Given the description of an element on the screen output the (x, y) to click on. 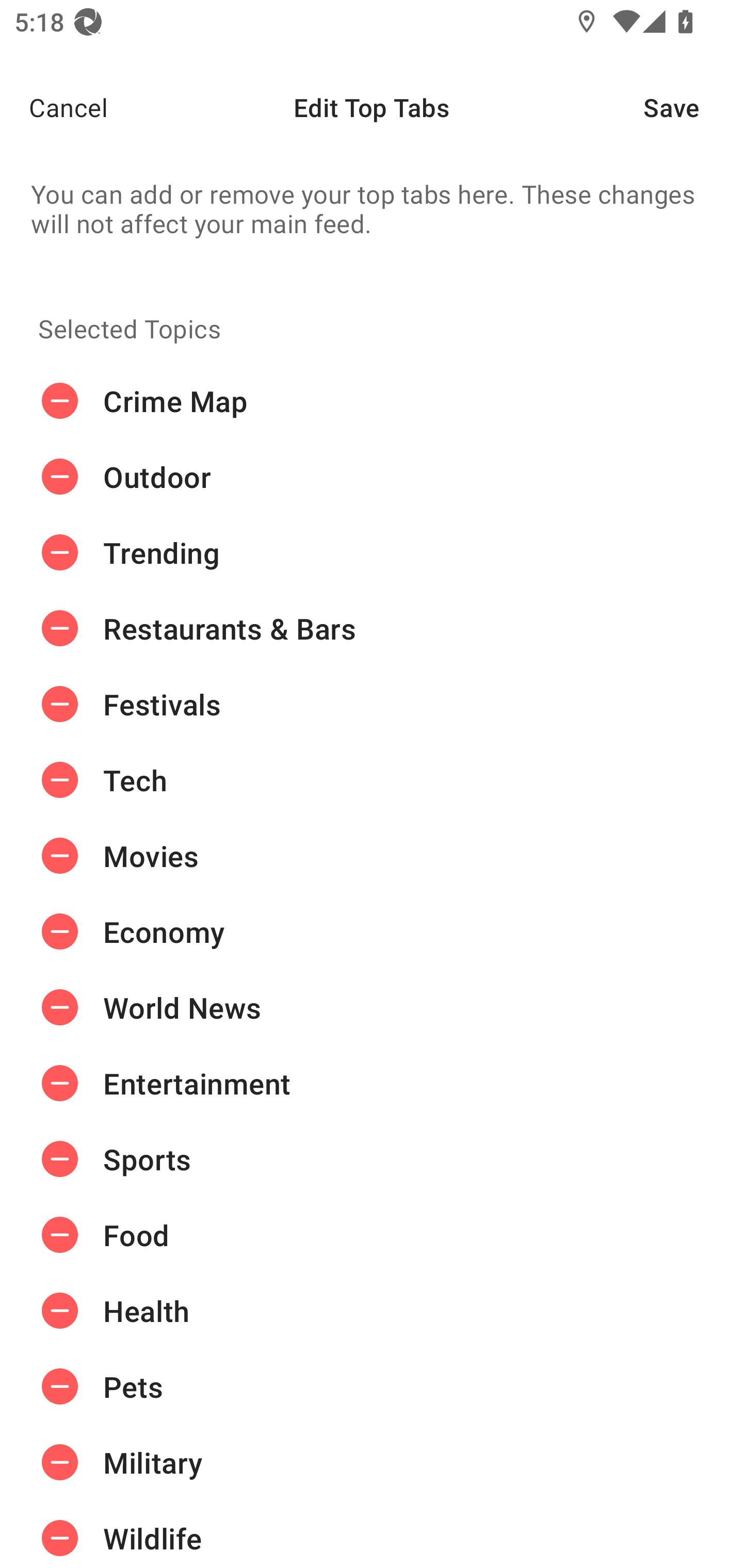
Cancel (53, 106)
Save (693, 106)
Crime Map (371, 401)
Outdoor (371, 476)
Trending (371, 552)
Restaurants & Bars (371, 628)
Festivals (371, 703)
Tech (371, 779)
Movies (371, 855)
Economy (371, 931)
World News (371, 1007)
Entertainment (371, 1083)
Sports (371, 1158)
Food (371, 1234)
Health (371, 1310)
Pets (371, 1386)
Military (371, 1462)
Wildlife (371, 1534)
